Given the description of an element on the screen output the (x, y) to click on. 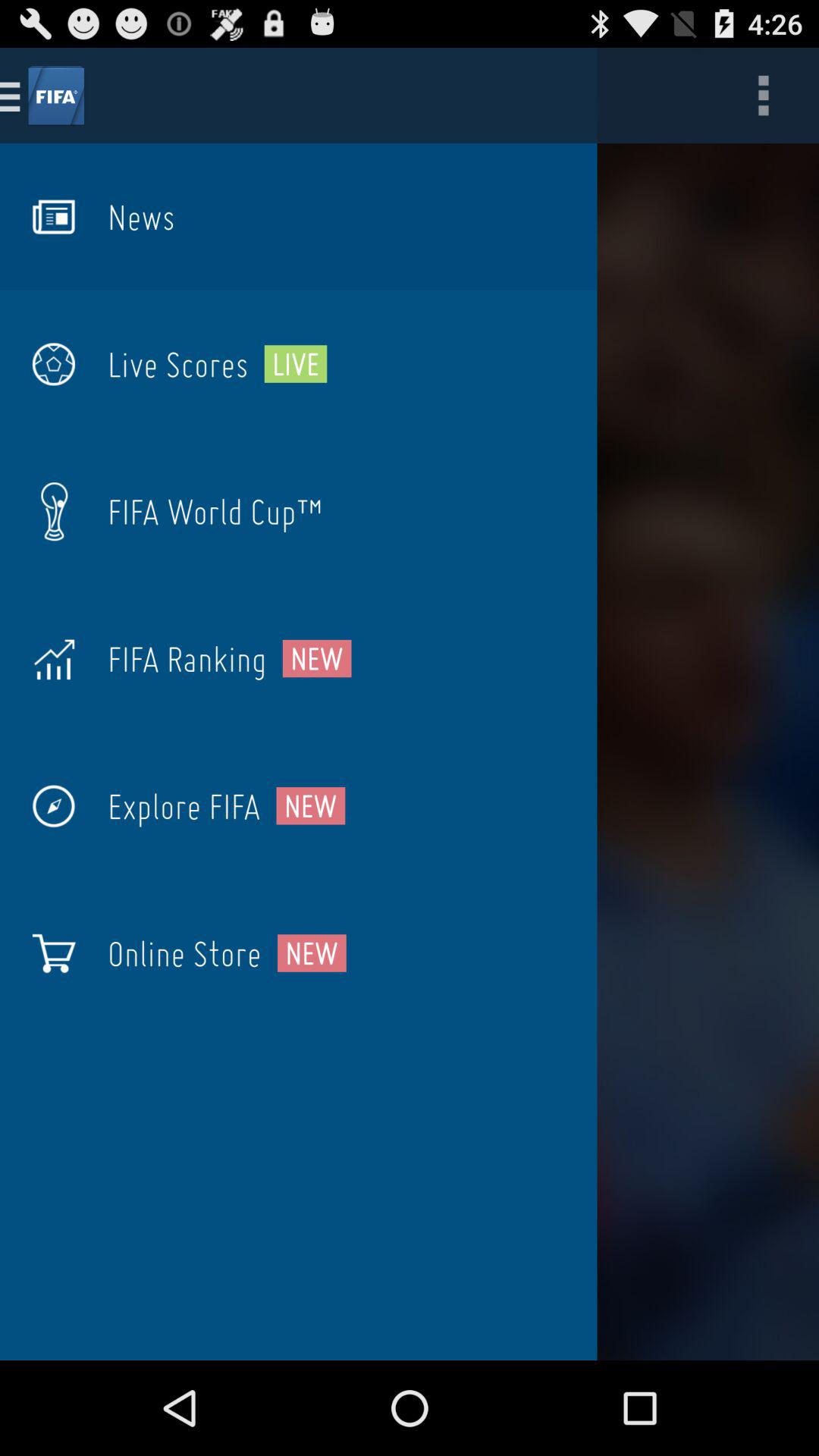
open the icon next to new icon (186, 658)
